Given the description of an element on the screen output the (x, y) to click on. 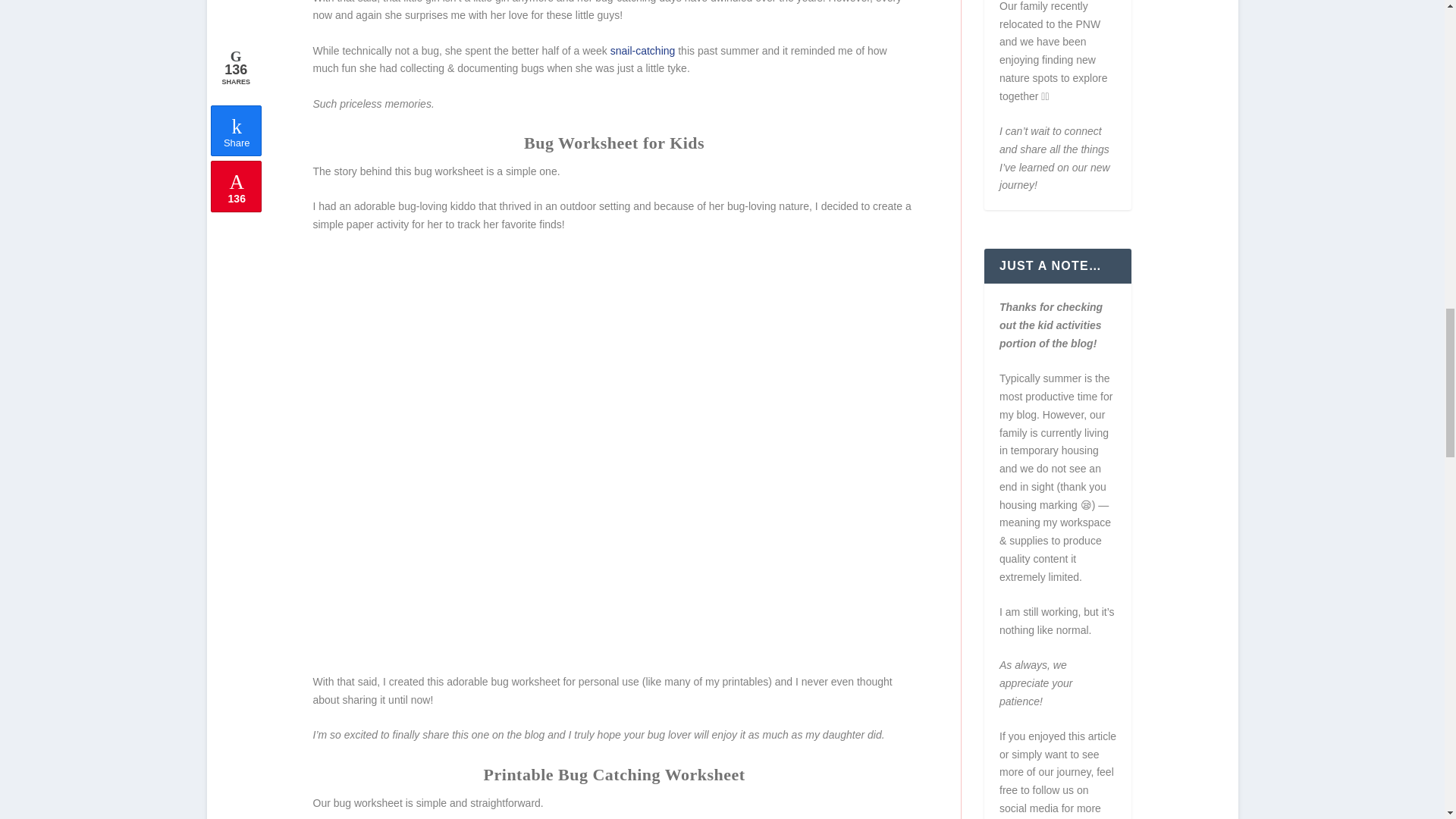
snail-catching (642, 50)
